Given the description of an element on the screen output the (x, y) to click on. 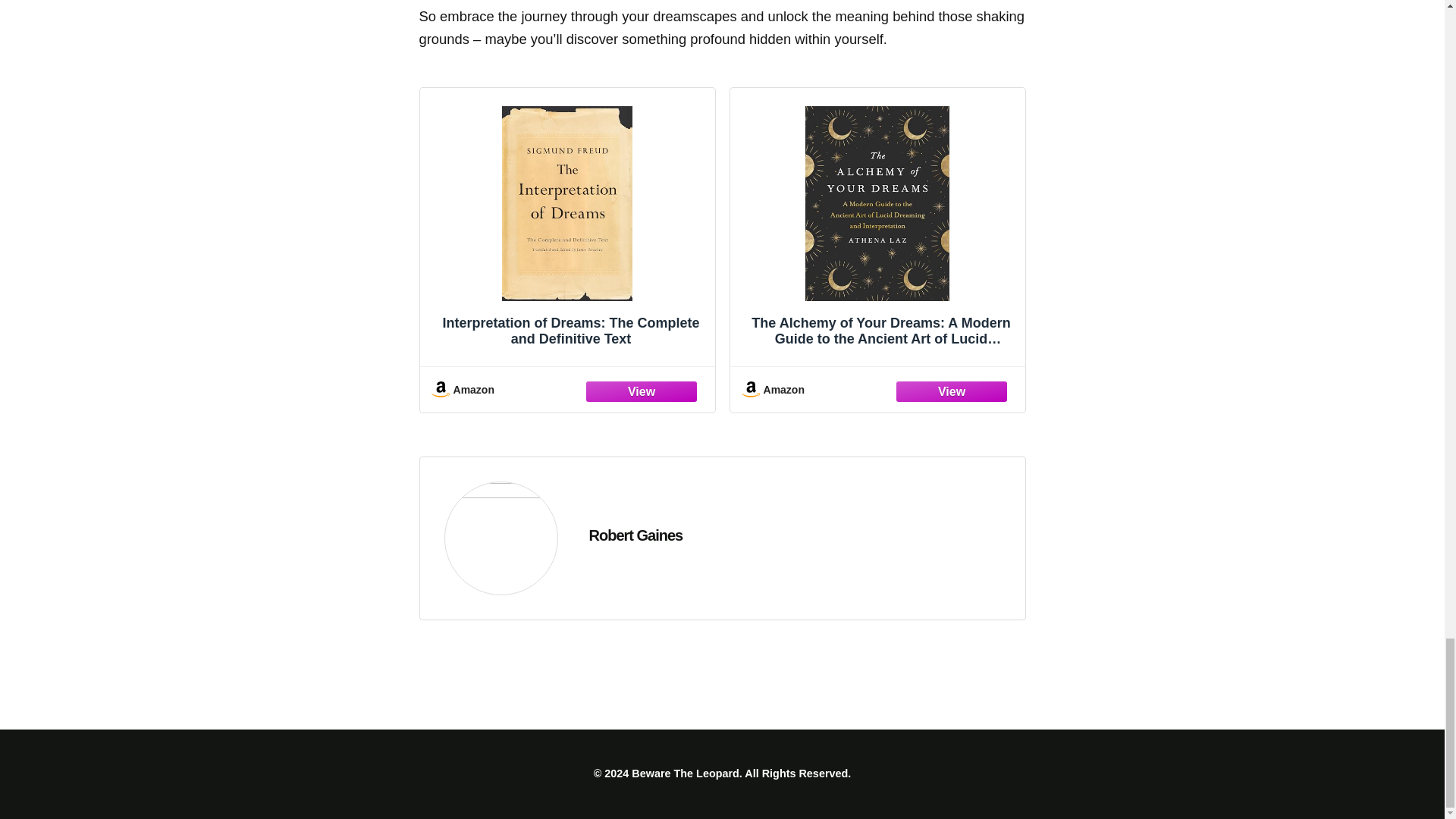
Amazon (566, 389)
Interpretation of Dreams: The Complete and Definitive Text (567, 230)
Amazon (877, 389)
